Given the description of an element on the screen output the (x, y) to click on. 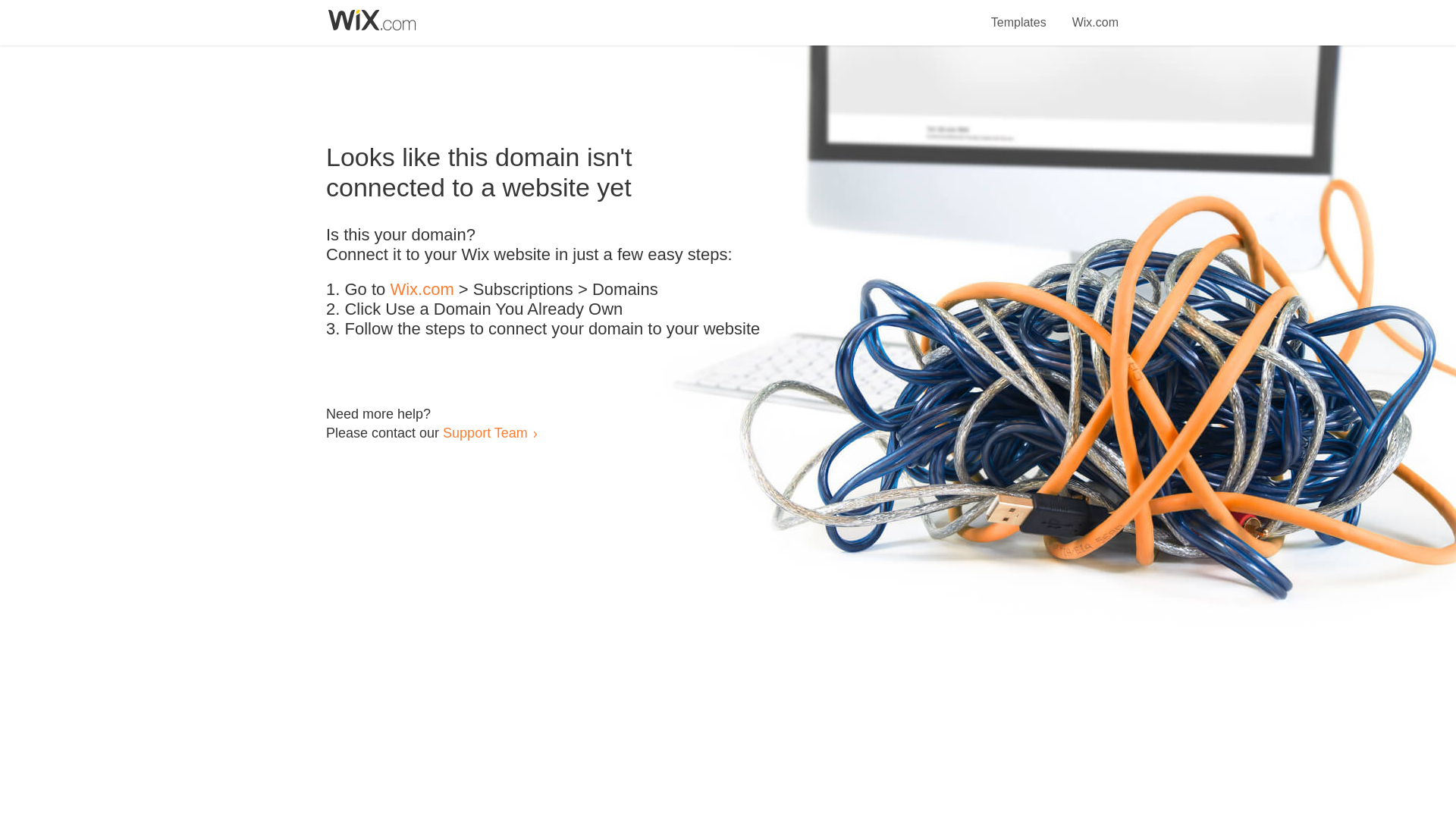
Templates (1018, 14)
Wix.com (1095, 14)
Support Team (484, 432)
Wix.com (421, 289)
